Given the description of an element on the screen output the (x, y) to click on. 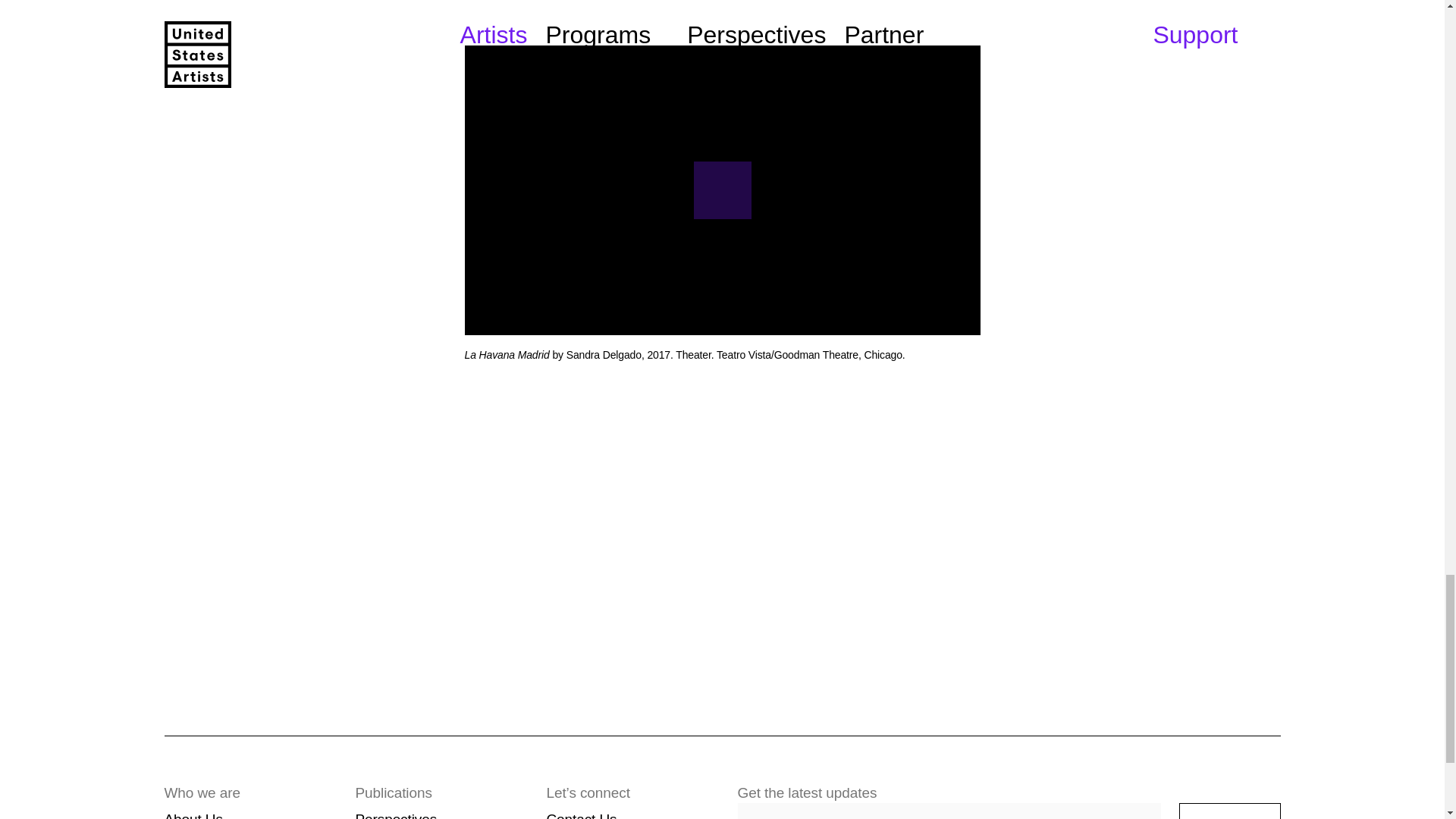
Perspectives (395, 815)
Subscribe (1230, 811)
About Us (192, 815)
